Given the description of an element on the screen output the (x, y) to click on. 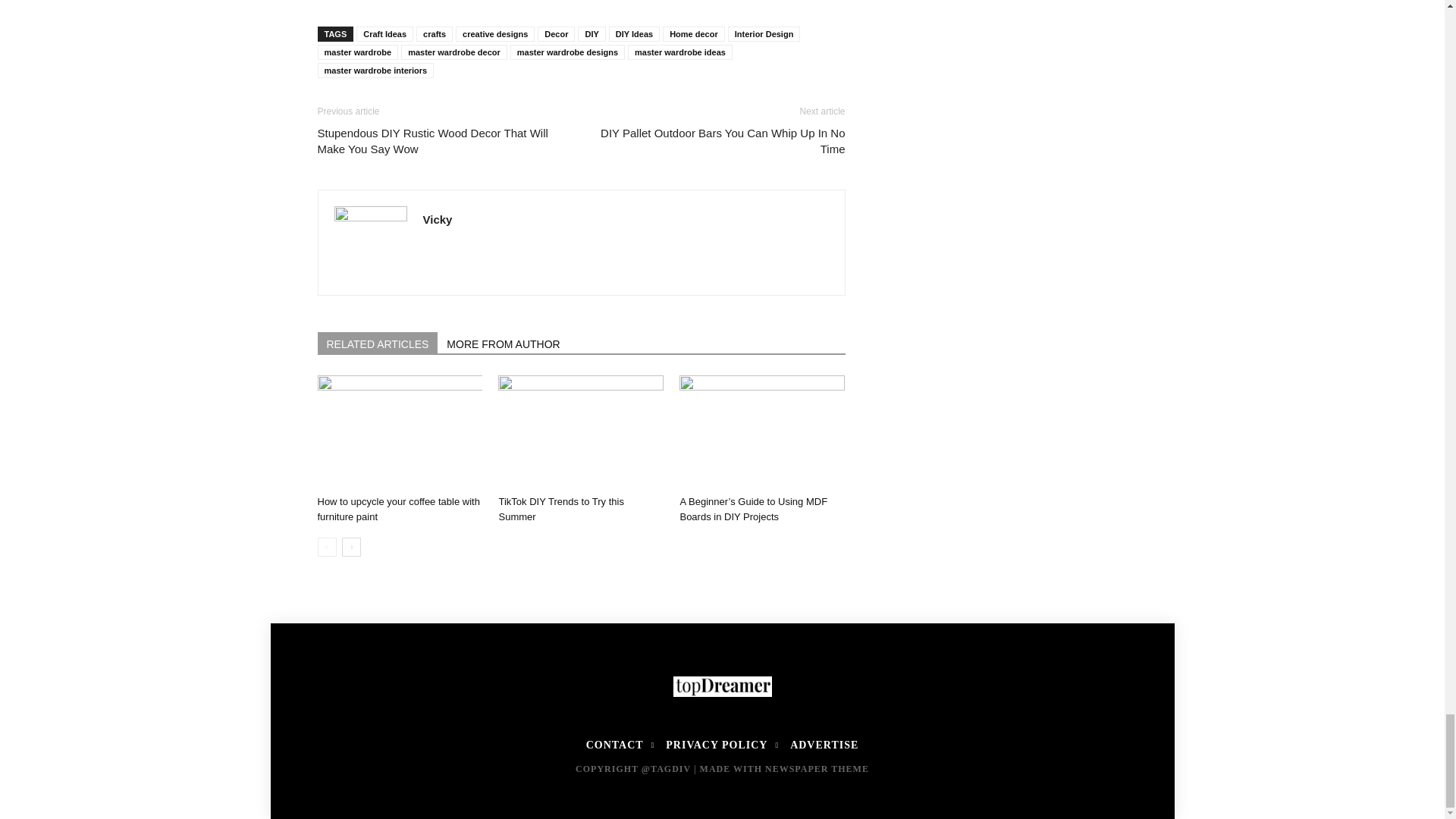
How to upcycle your coffee table with furniture paint (399, 431)
How to upcycle your coffee table with furniture paint (398, 509)
TikTok DIY Trends to Try this Summer (560, 509)
TikTok DIY Trends to Try this Summer (580, 431)
